Given the description of an element on the screen output the (x, y) to click on. 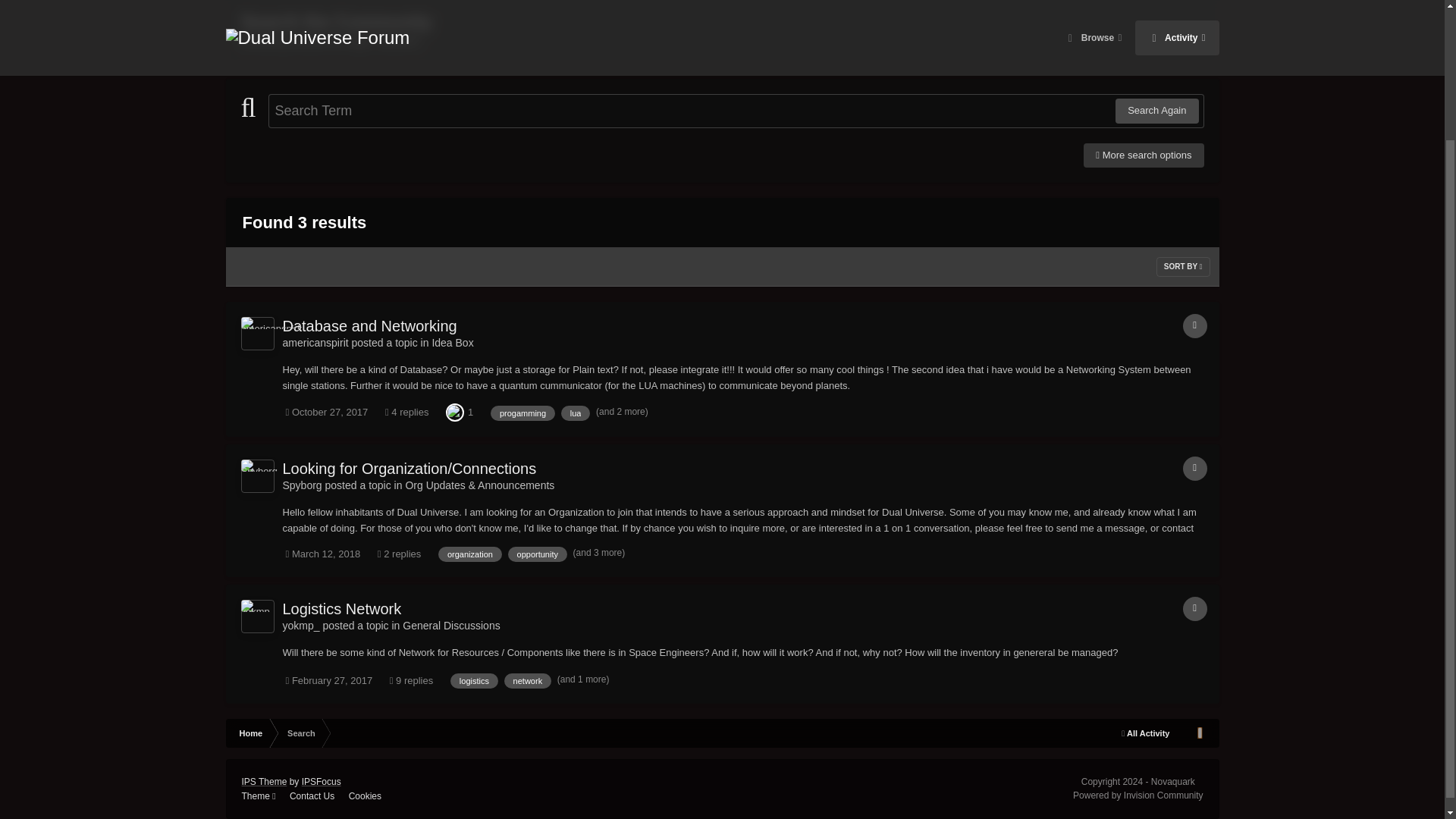
Go to americanspirit's profile (258, 333)
More search options (1143, 155)
Find other content tagged with 'lua' (575, 412)
Topic (1194, 325)
Go to americanspirit's profile (314, 342)
Topic (1194, 468)
Search Again (1156, 110)
See who reacted "Like" (454, 411)
Go to Spyborg's profile (301, 485)
Go to Spyborg's profile (258, 476)
Find other content tagged with 'progamming' (522, 412)
